Given the description of an element on the screen output the (x, y) to click on. 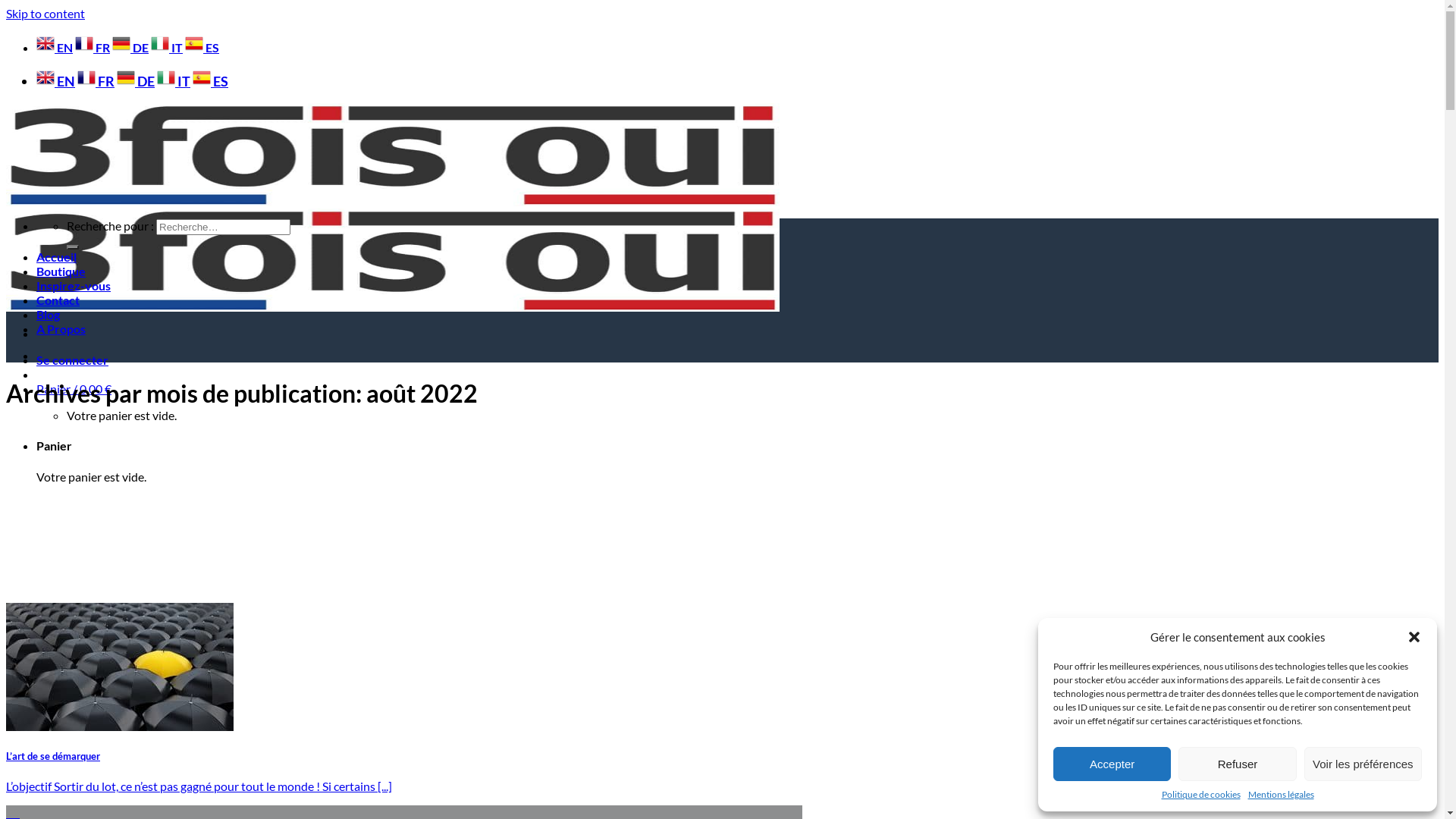
Skip to content Element type: text (45, 13)
Se connecter Element type: text (72, 359)
DE Element type: text (135, 80)
ES Element type: text (210, 80)
ES Element type: text (202, 47)
IT Element type: text (166, 47)
Blog Element type: text (47, 314)
Recherche Element type: text (72, 246)
Politique de cookies Element type: text (1200, 794)
Accepter Element type: text (1111, 763)
IT Element type: text (173, 80)
DE Element type: text (130, 47)
Refuser Element type: text (1236, 763)
EN Element type: text (55, 80)
FR Element type: text (95, 80)
A Propos Element type: text (60, 328)
Accueil Element type: text (56, 256)
Inspirez-vous Element type: text (73, 285)
FR Element type: text (92, 47)
3 Fois Oui - Sacs, accessoires, ligne bureau Element type: hover (392, 253)
Contact Element type: text (57, 299)
EN Element type: text (54, 47)
Boutique Element type: text (60, 270)
